Given the description of an element on the screen output the (x, y) to click on. 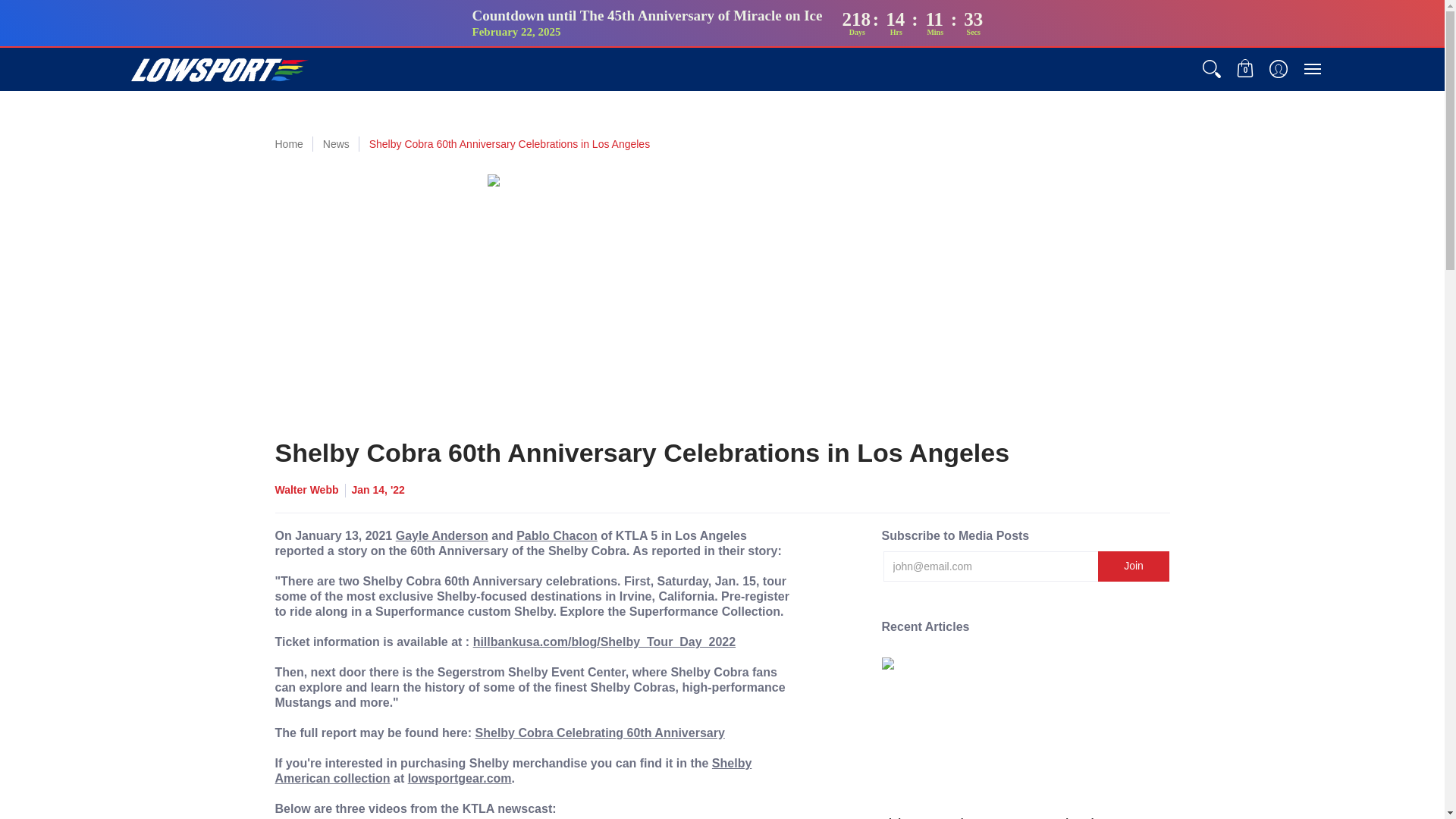
Lowsportgear.com (217, 68)
Join (1133, 566)
